Given the description of an element on the screen output the (x, y) to click on. 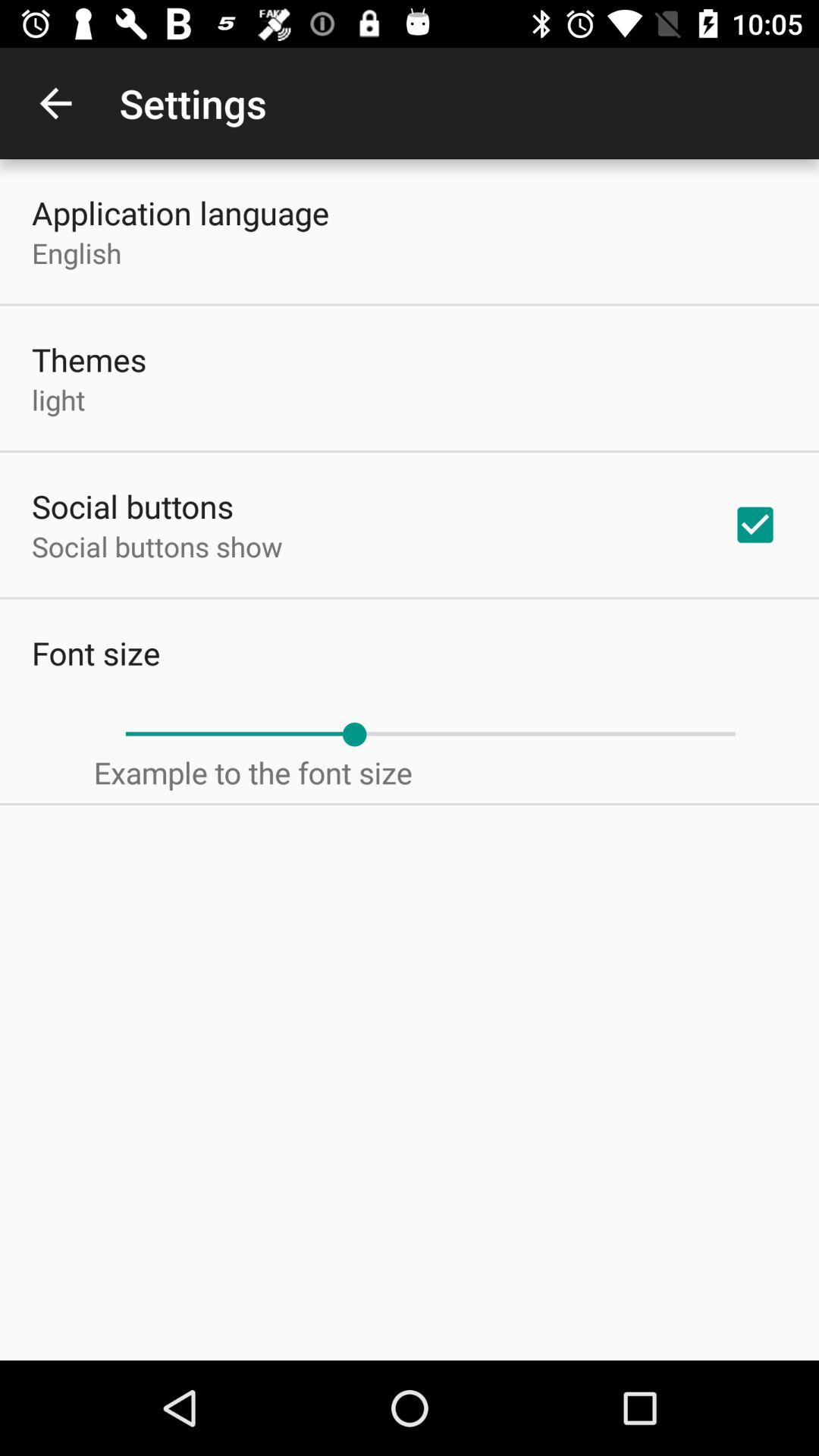
press icon below the english item (88, 359)
